Given the description of an element on the screen output the (x, y) to click on. 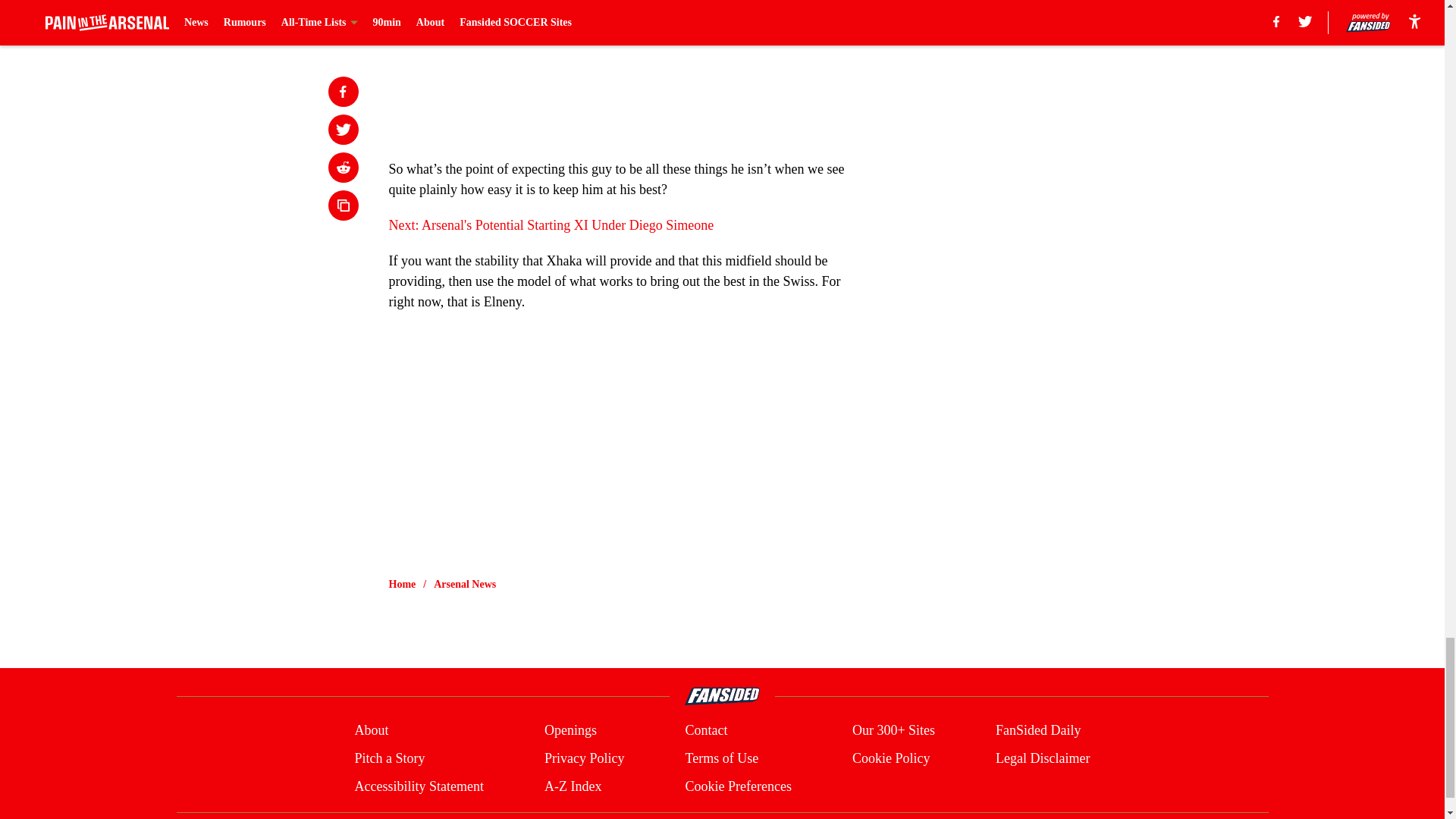
Next: Arsenal's Potential Starting XI Under Diego Simeone (550, 224)
Home (401, 584)
Arsenal News (464, 584)
About (370, 730)
